Given the description of an element on the screen output the (x, y) to click on. 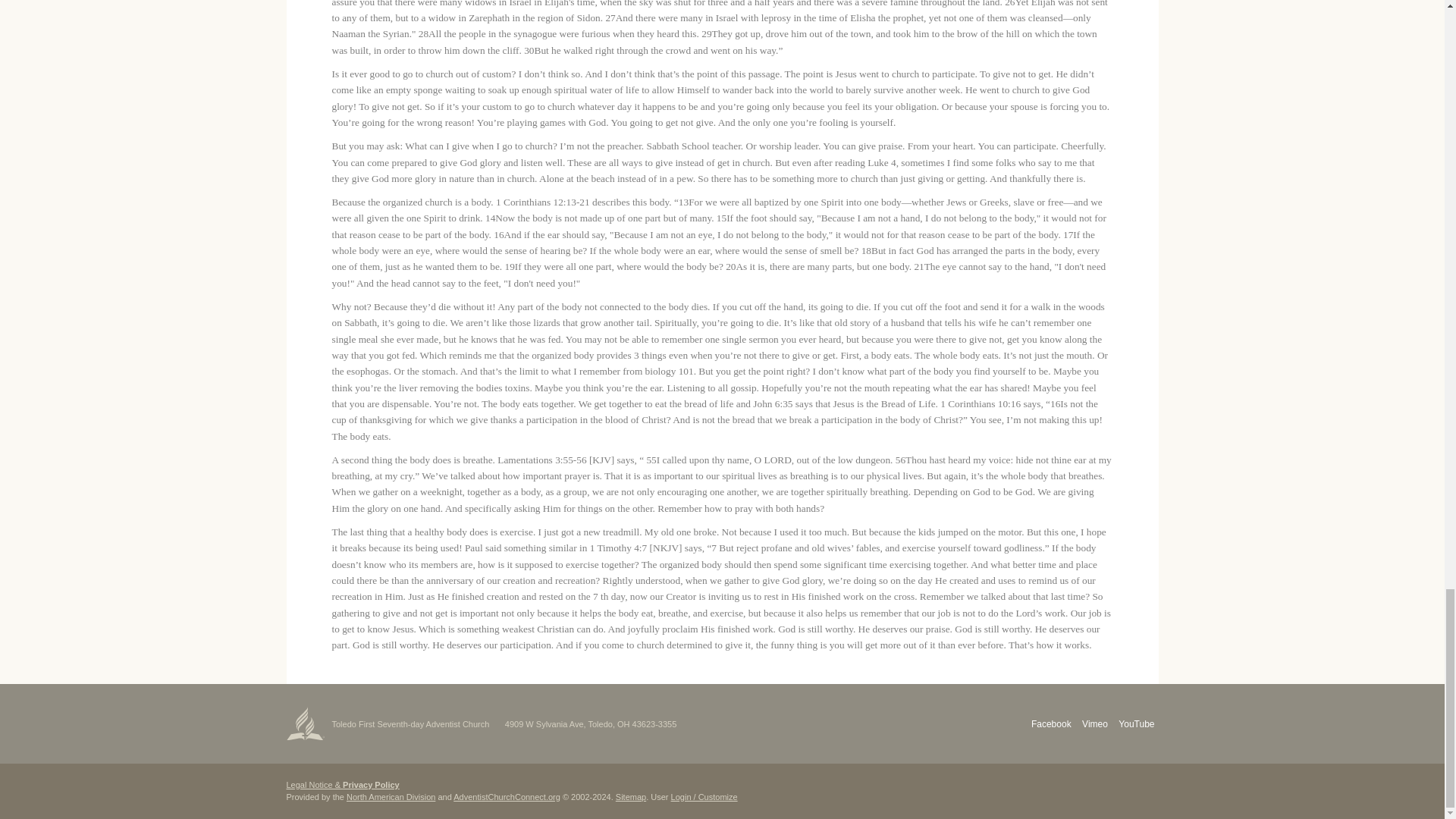
Seventh-day Adventist Logo (305, 723)
